Given the description of an element on the screen output the (x, y) to click on. 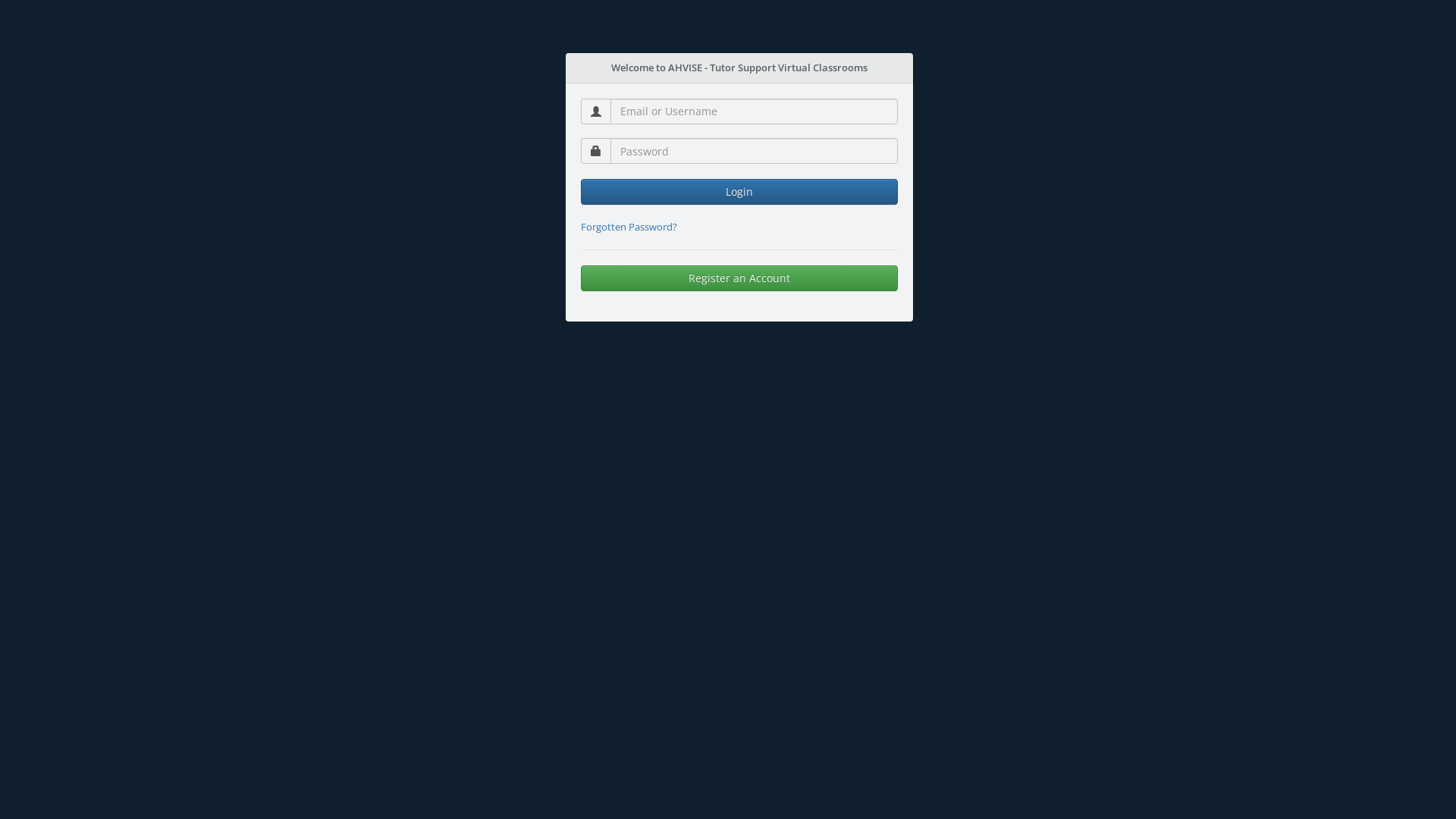
Login Element type: text (738, 191)
Forgotten Password? Element type: text (628, 226)
Register an Account Element type: text (738, 278)
